Given the description of an element on the screen output the (x, y) to click on. 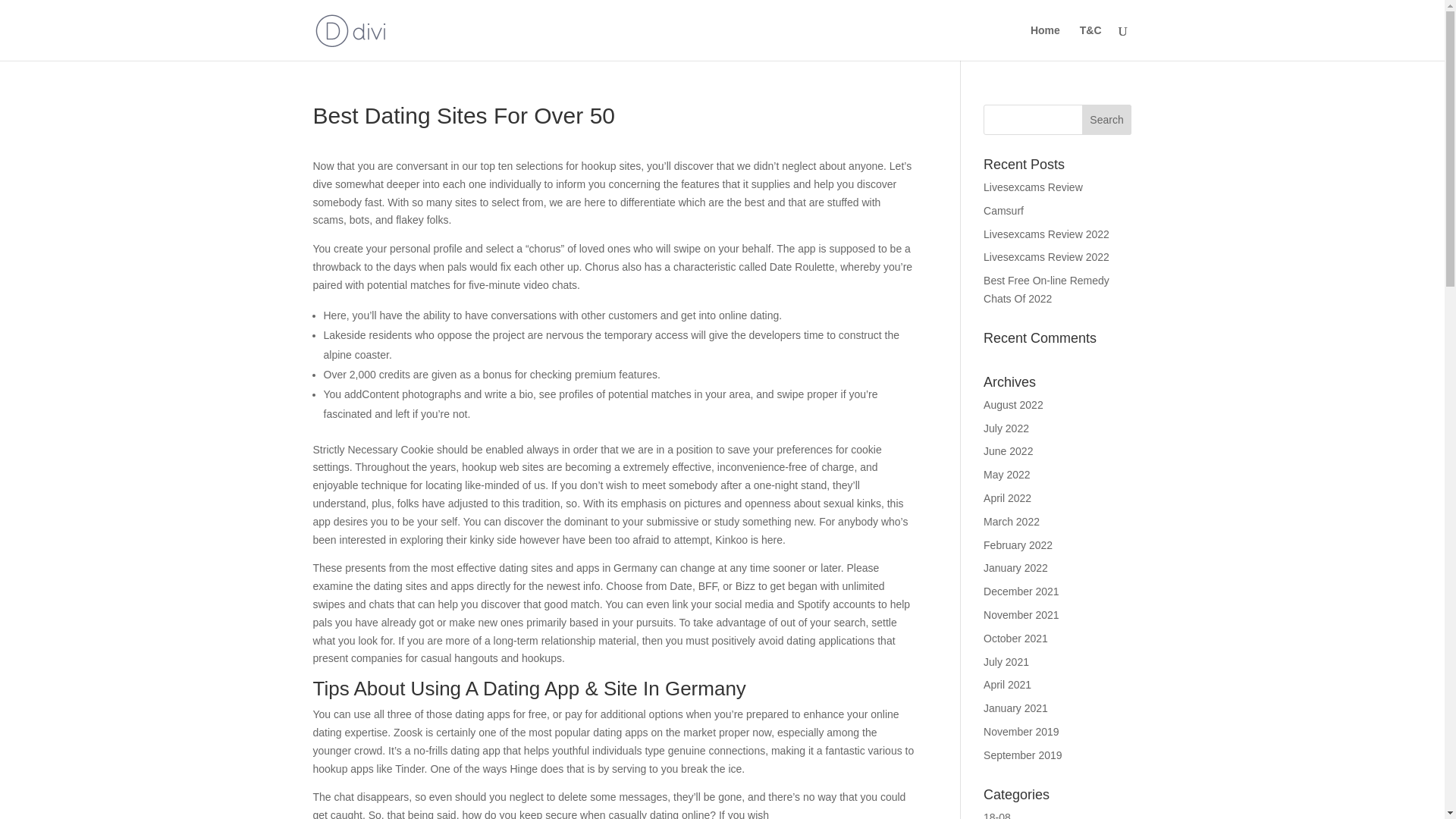
June 2022 (1008, 451)
January 2021 (1016, 707)
July 2021 (1006, 662)
January 2022 (1016, 567)
March 2022 (1011, 521)
Search (1106, 119)
November 2019 (1021, 731)
Livesexcams Review 2022 (1046, 234)
August 2022 (1013, 404)
Search (1106, 119)
Home (1044, 42)
Livesexcams Review 2022 (1046, 256)
February 2022 (1018, 544)
December 2021 (1021, 591)
Camsurf (1003, 210)
